Given the description of an element on the screen output the (x, y) to click on. 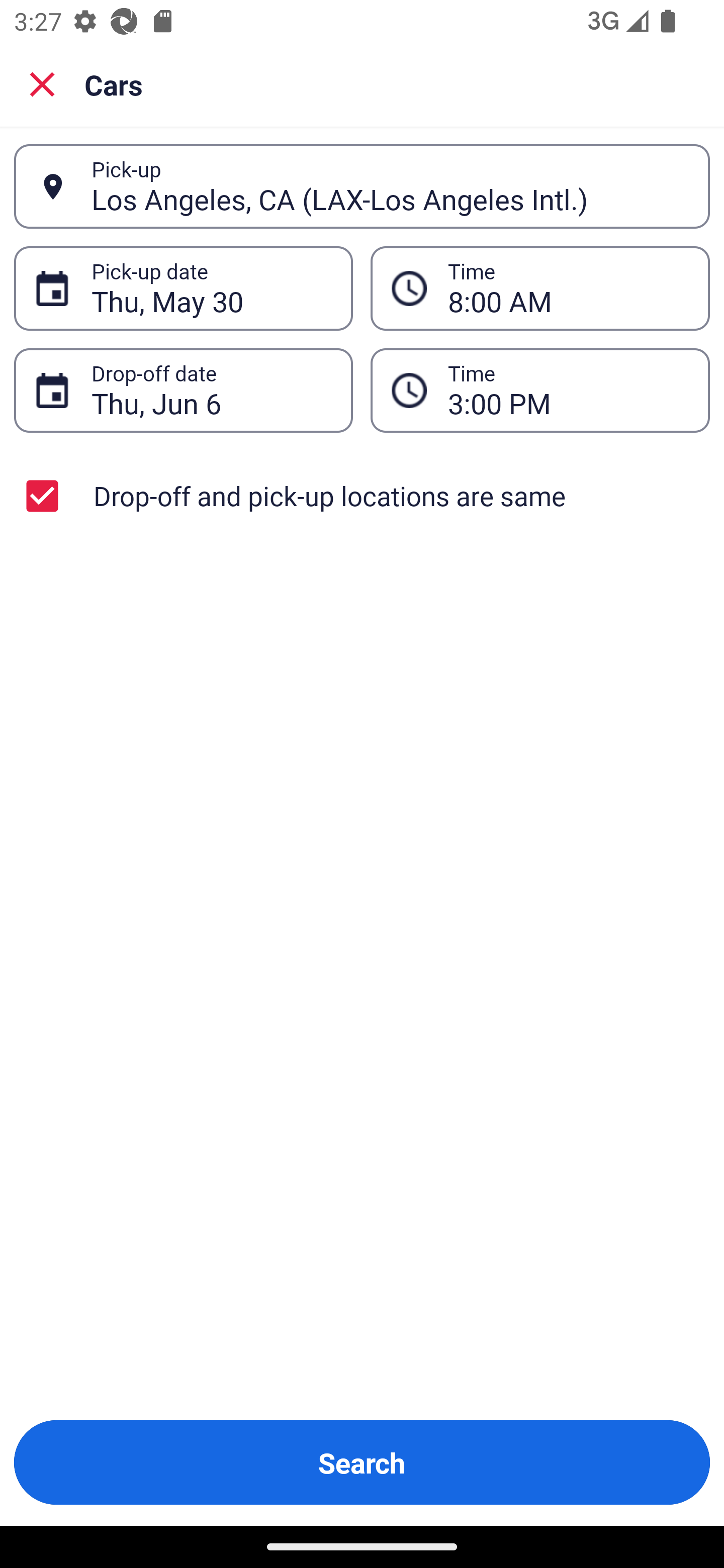
Close search screen (41, 83)
Los Angeles, CA (LAX-Los Angeles Intl.) Pick-up (361, 186)
Los Angeles, CA (LAX-Los Angeles Intl.) (389, 186)
Thu, May 30 Pick-up date (183, 288)
8:00 AM (540, 288)
Thu, May 30 (211, 288)
8:00 AM (568, 288)
Thu, Jun 6 Drop-off date (183, 390)
3:00 PM (540, 390)
Thu, Jun 6 (211, 390)
3:00 PM (568, 390)
Drop-off and pick-up locations are same (361, 495)
Search Button Search (361, 1462)
